Given the description of an element on the screen output the (x, y) to click on. 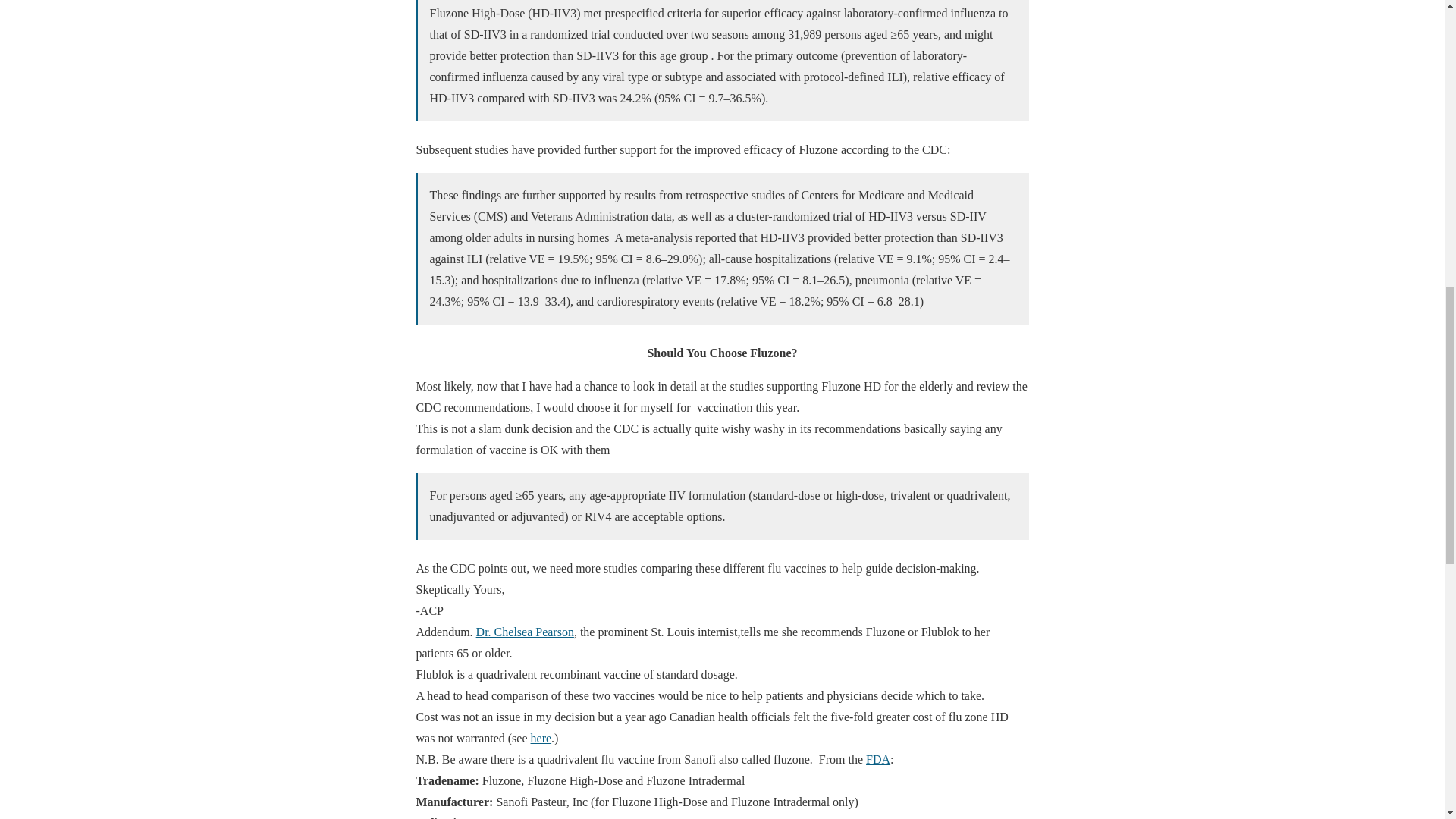
FDA (877, 758)
Dr. Chelsea Pearson (524, 631)
here (541, 738)
